Given the description of an element on the screen output the (x, y) to click on. 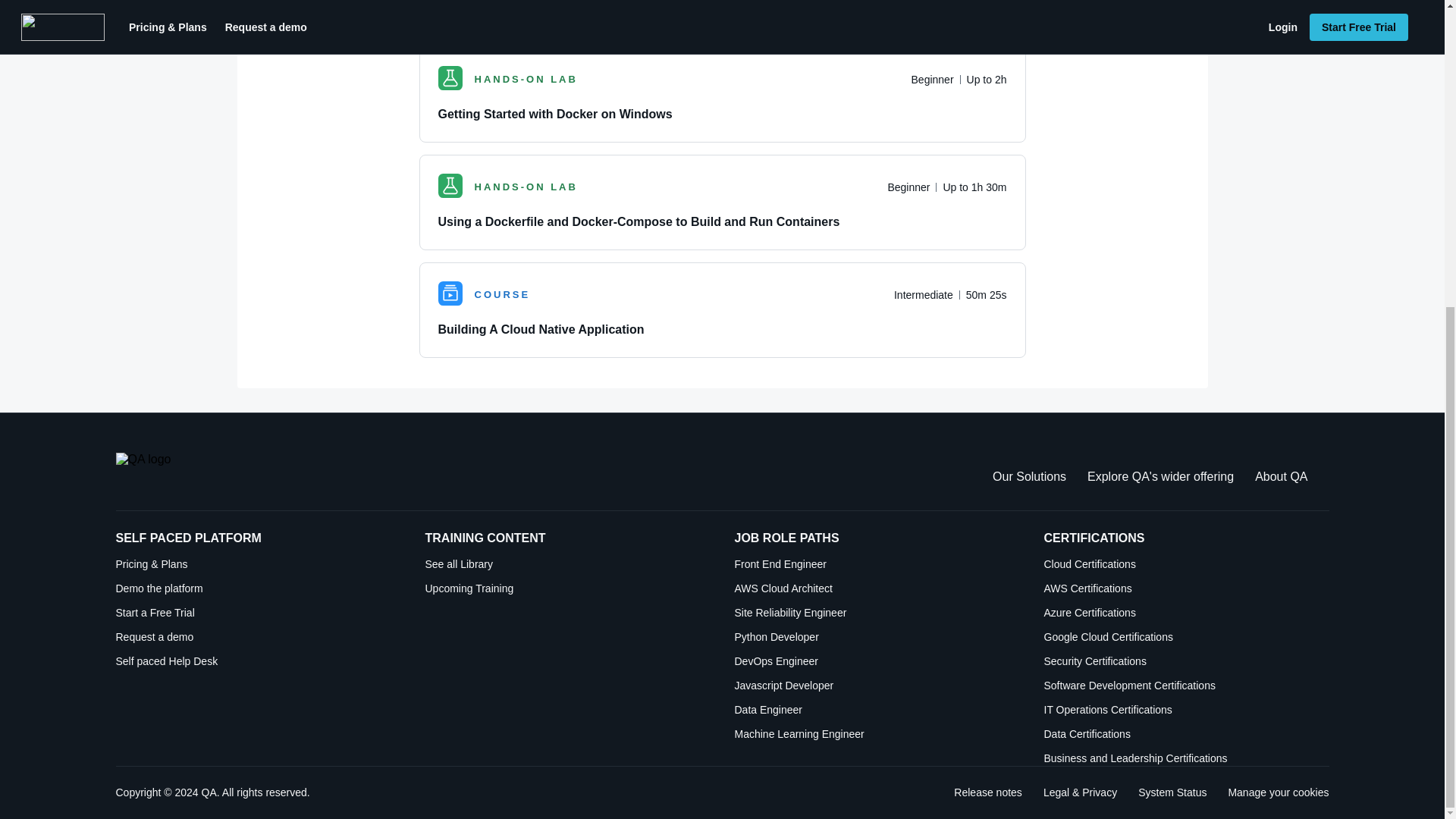
Data Engineer (876, 709)
Upcoming Training (567, 588)
Google Cloud Certifications (1185, 636)
Cloud Certifications (1185, 563)
Request a demo (257, 636)
See all Library (567, 563)
Explore QA's wider offering (1160, 476)
Site Reliability Engineer (876, 612)
Security Certifications (1185, 661)
